Given the description of an element on the screen output the (x, y) to click on. 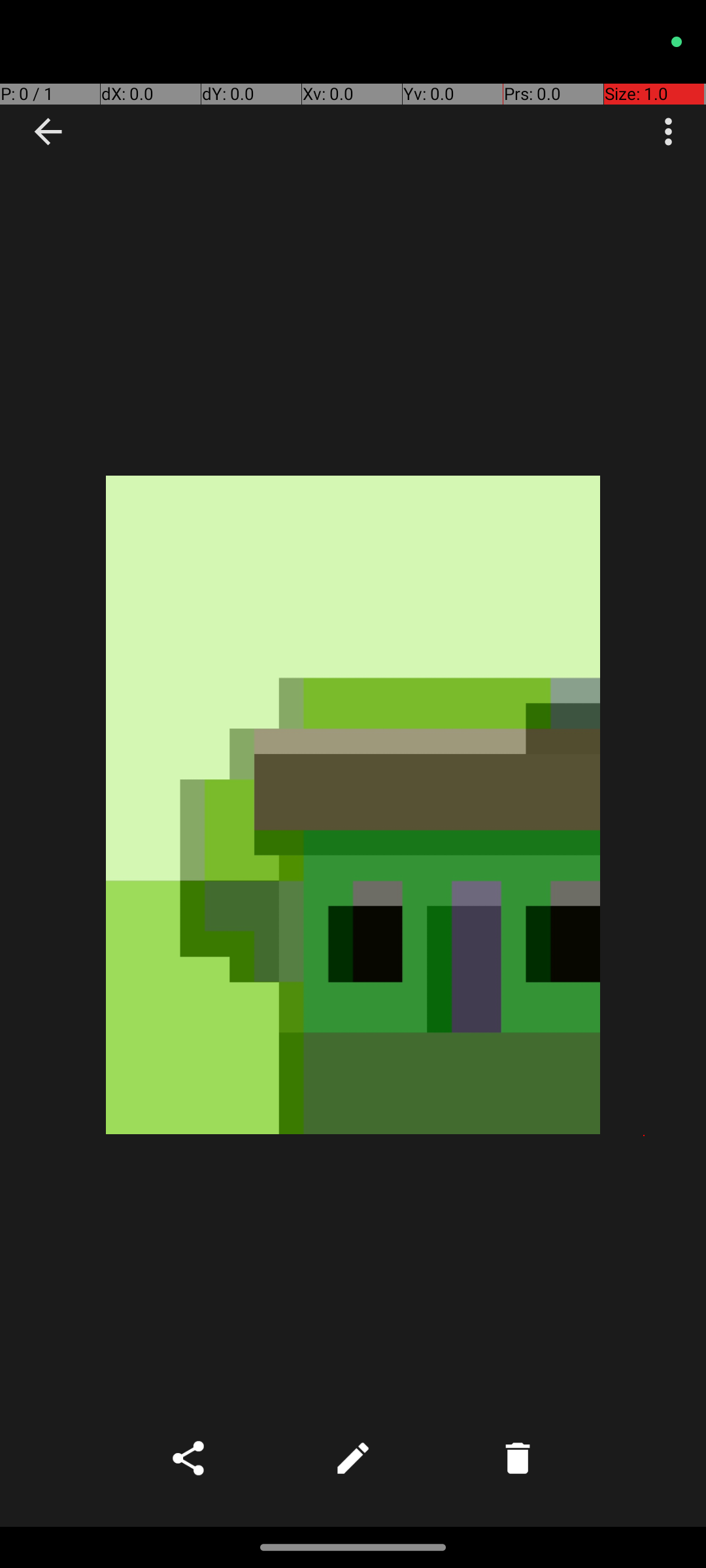
Photo taken on Oct 15, 2023 15:34:19 Element type: android.widget.ImageView (352, 804)
